Given the description of an element on the screen output the (x, y) to click on. 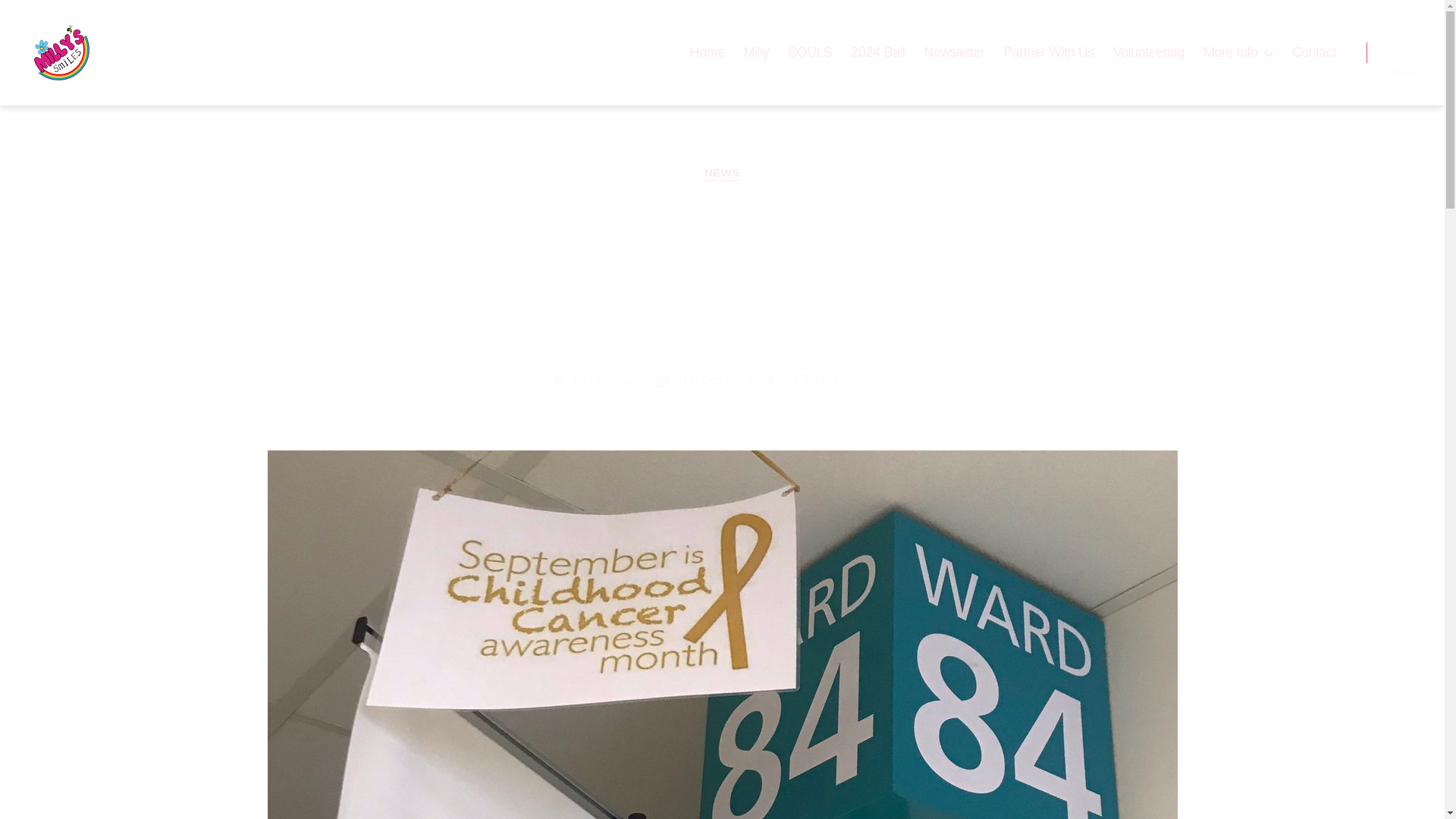
Volunteering (1149, 53)
Partner With Us (1048, 53)
Home (707, 53)
More Info (1238, 53)
Milly (757, 53)
SOULS (809, 53)
Contact (1313, 53)
2024 Ball (878, 53)
Newsletter (953, 53)
